Given the description of an element on the screen output the (x, y) to click on. 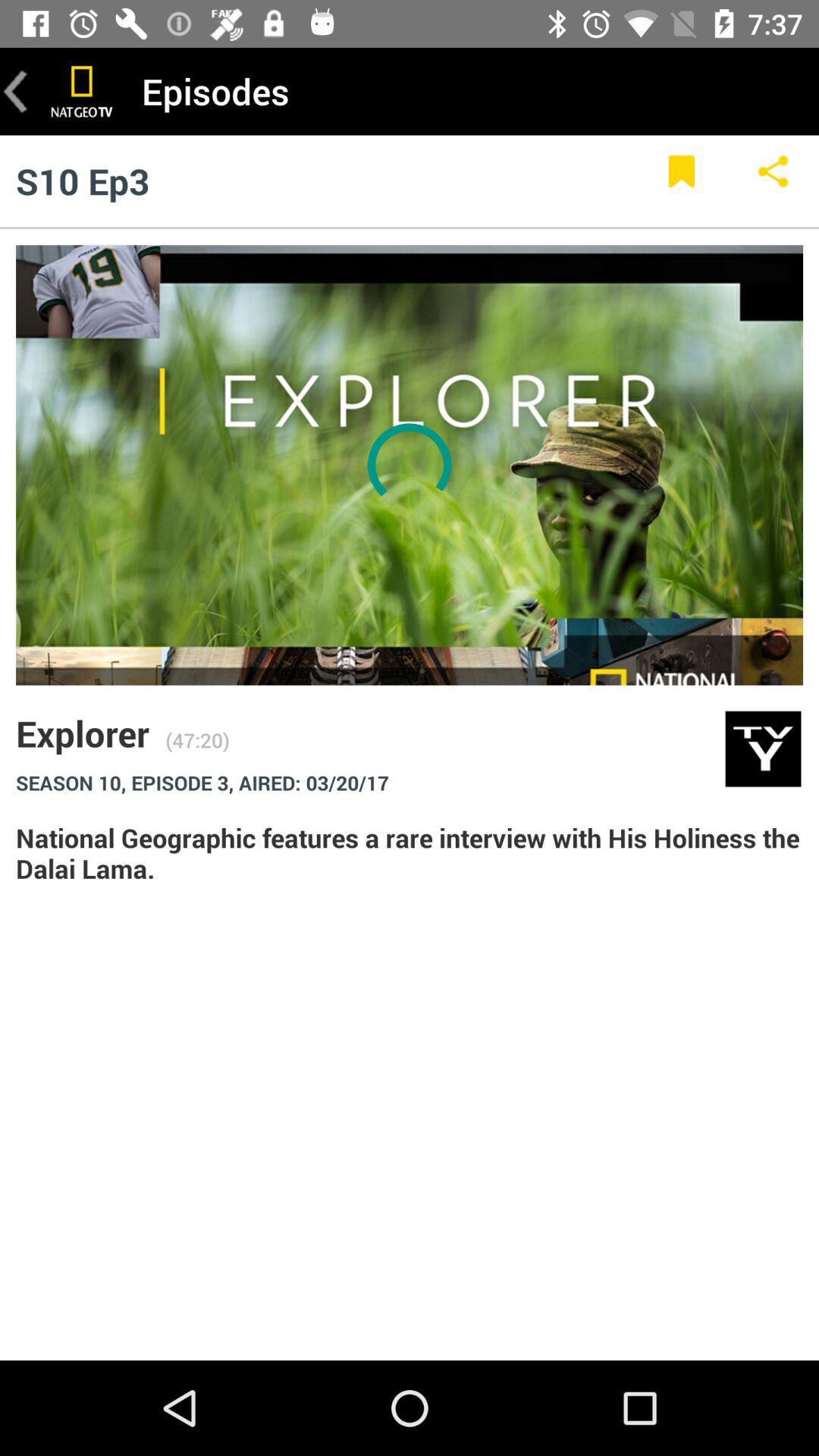
click item below the episodes (681, 180)
